Given the description of an element on the screen output the (x, y) to click on. 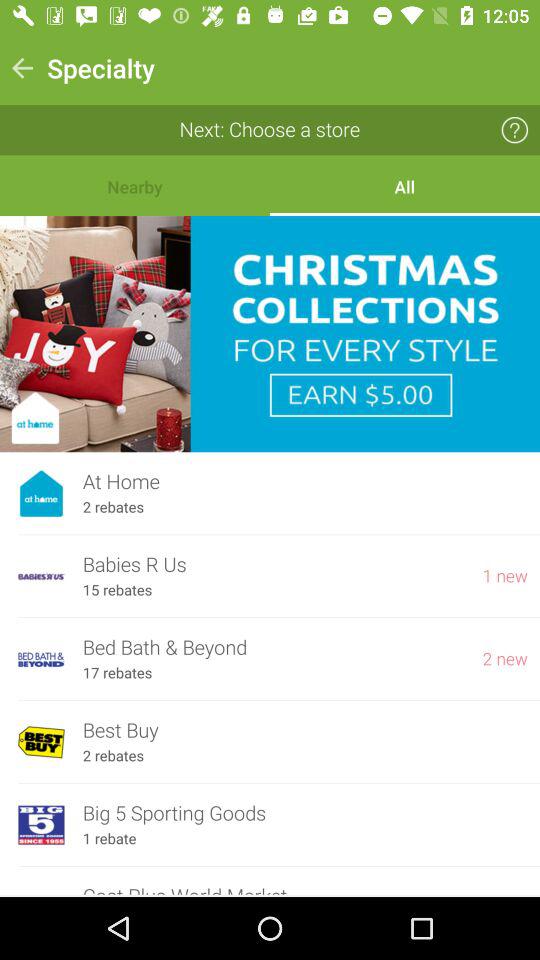
turn on cost plus world (305, 889)
